Given the description of an element on the screen output the (x, y) to click on. 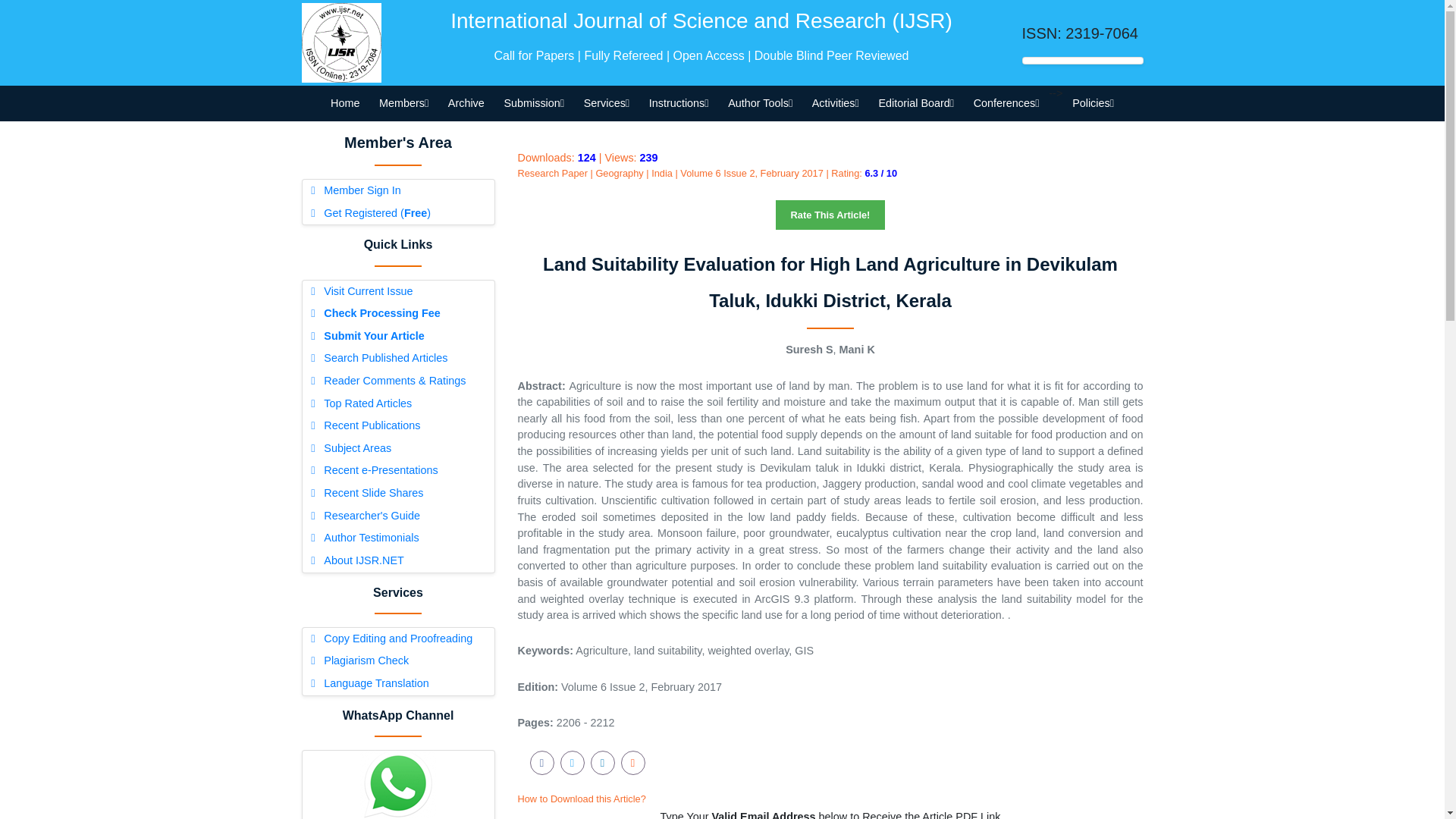
Archive (466, 103)
Author Tools (759, 103)
Services (606, 103)
Home (344, 103)
Submission (534, 103)
Archive (466, 103)
Home (344, 103)
Instructions (678, 103)
Members (403, 103)
Activities (835, 103)
